Given the description of an element on the screen output the (x, y) to click on. 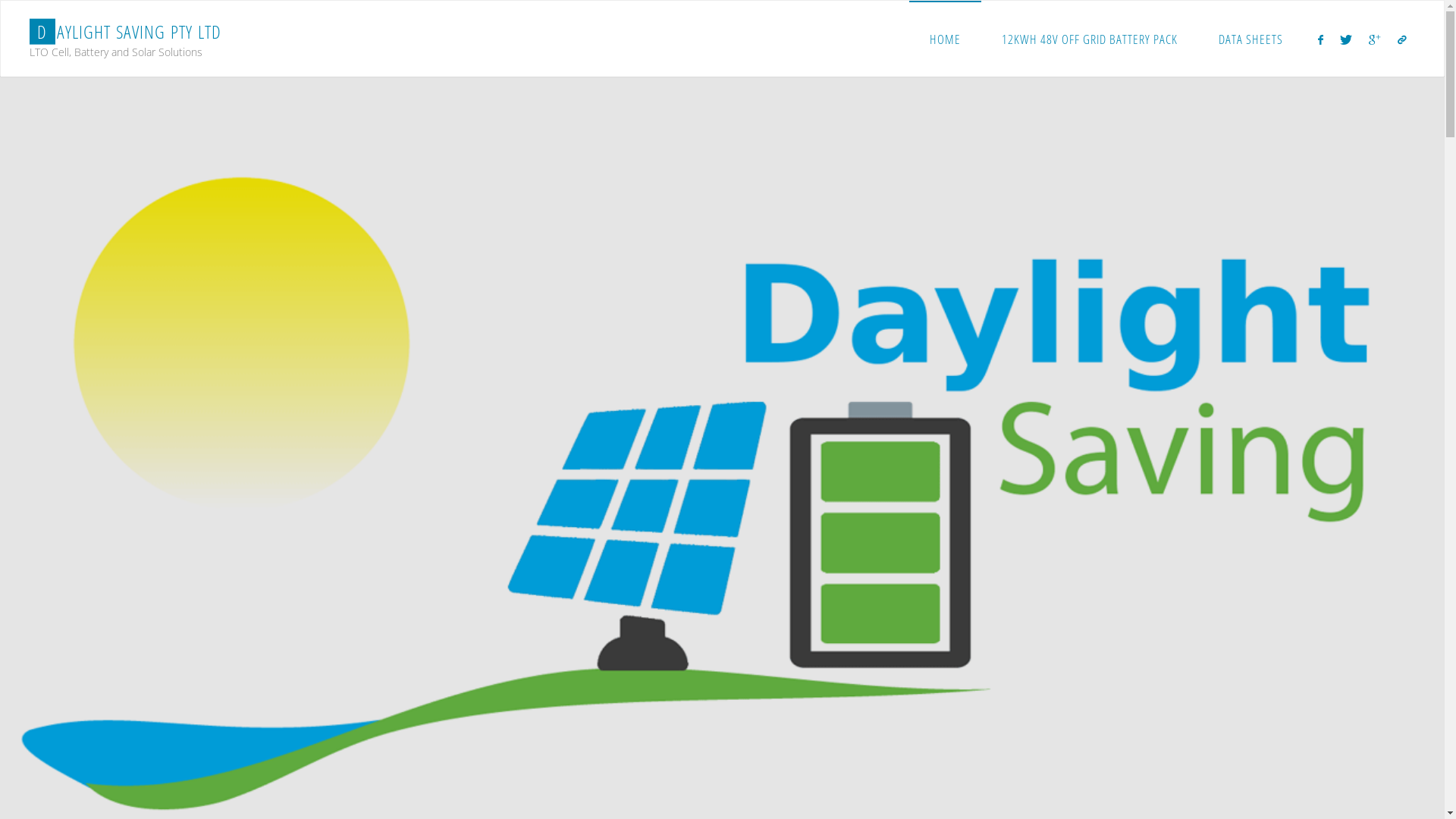
Twitter Element type: hover (1345, 39)
Google Plus Element type: hover (1374, 39)
Custom Social Element type: hover (1402, 39)
Facebook Element type: hover (1319, 39)
DATA SHEETS Element type: text (1250, 38)
DAYLIGHT SAVING PTY LTD Element type: text (125, 31)
HOME Element type: text (945, 38)
12KWH 48V OFF GRID BATTERY PACK Element type: text (1089, 38)
